Given the description of an element on the screen output the (x, y) to click on. 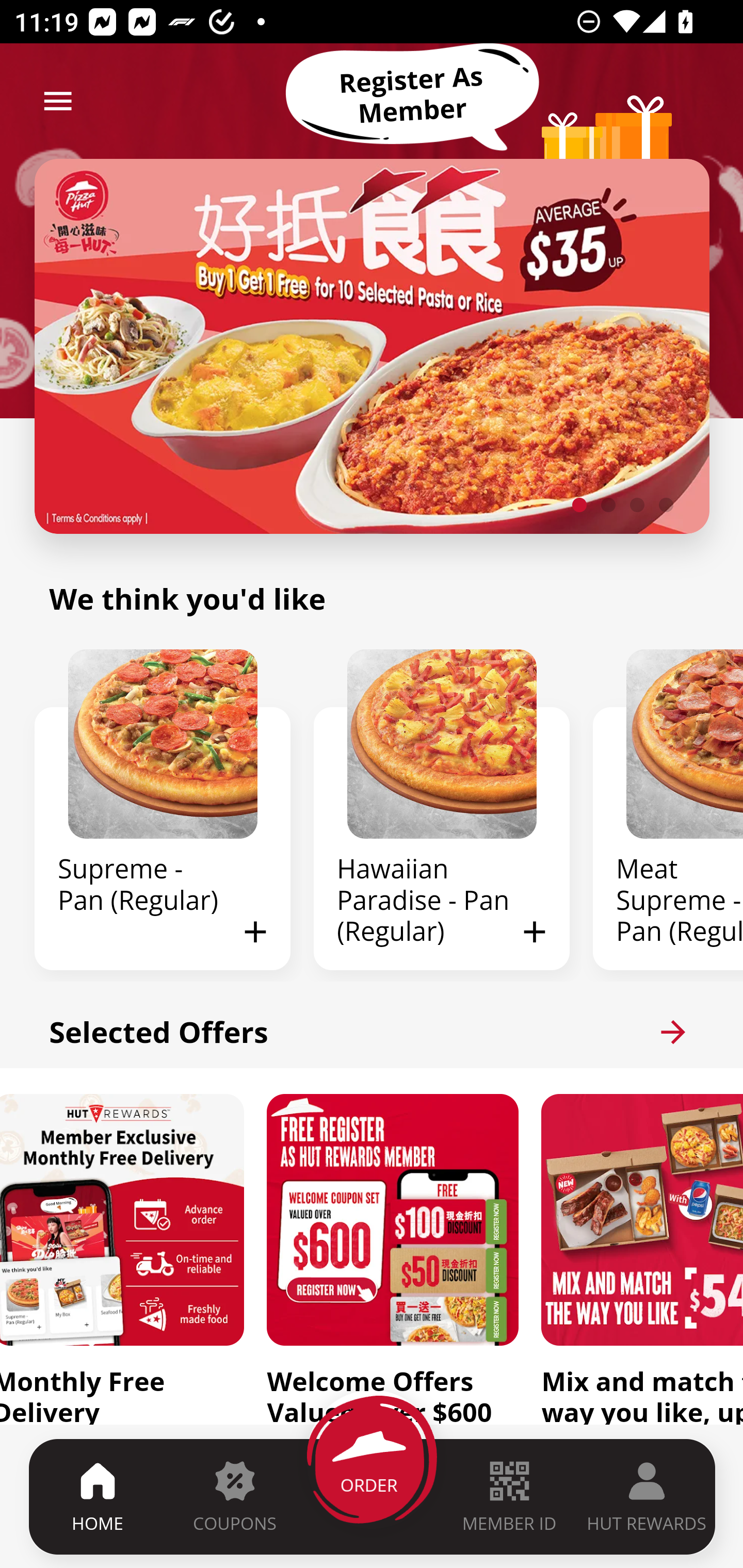
Register As Member (411, 95)
menu (58, 100)
arrow_forward (672, 1031)
HOME (97, 1496)
COUPONS (234, 1496)
ORDER (372, 1496)
MEMBER ID (509, 1496)
HUT REWARDS (647, 1496)
